Given the description of an element on the screen output the (x, y) to click on. 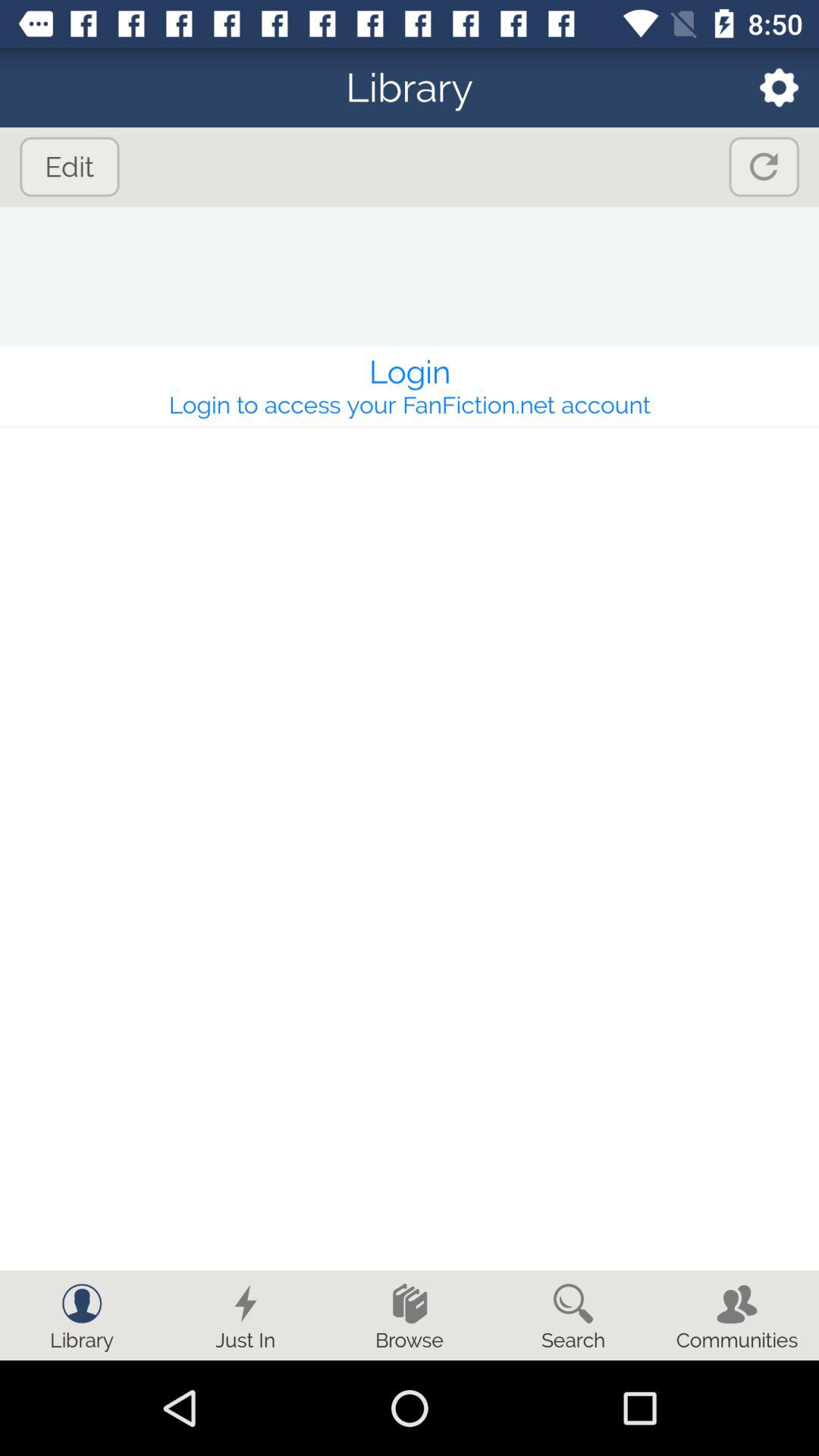
open settings (769, 87)
